Given the description of an element on the screen output the (x, y) to click on. 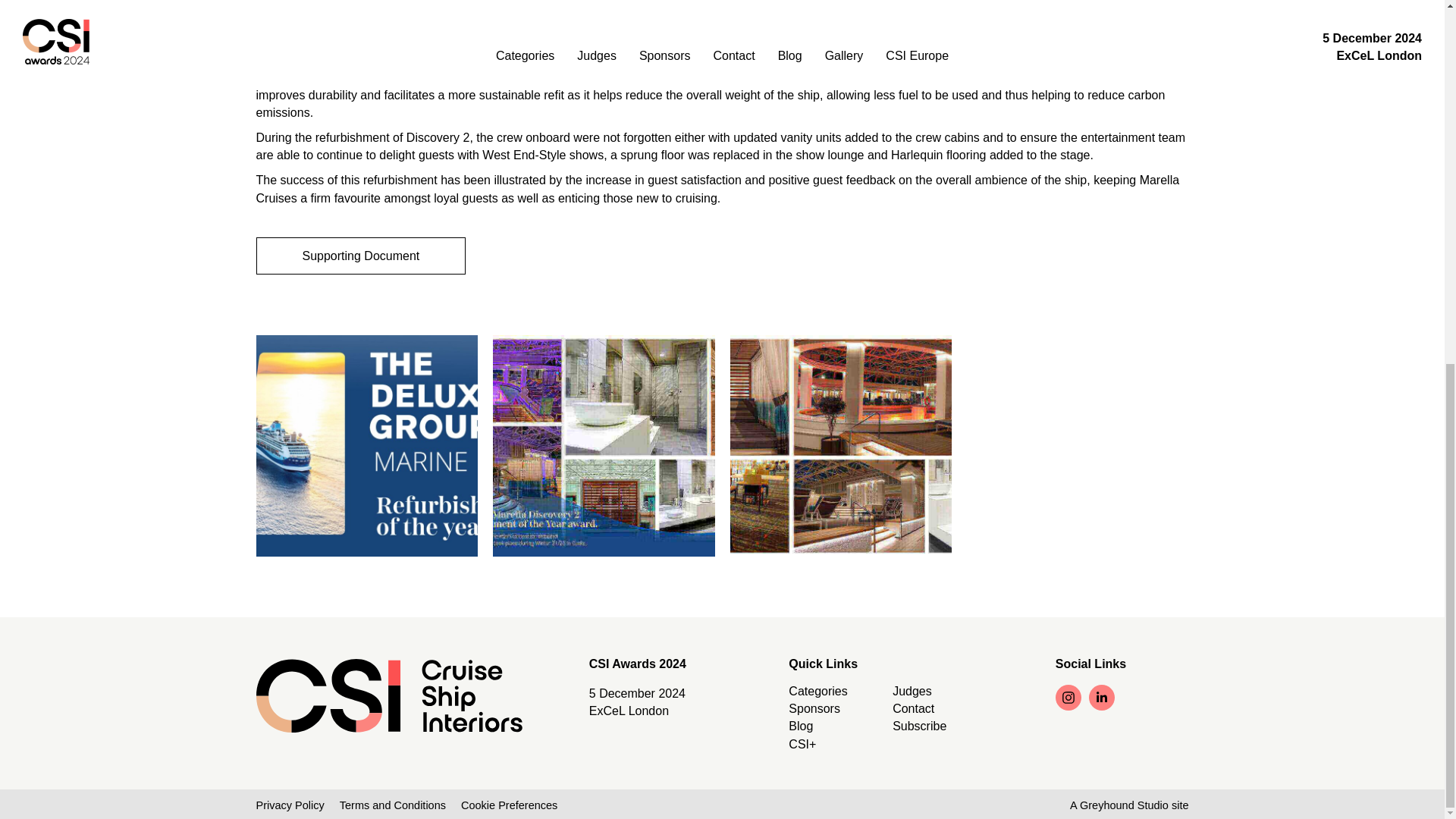
Terms and Conditions (392, 805)
Judges (911, 690)
Sponsors (814, 707)
Cookie Preferences (509, 805)
Subscribe (919, 725)
Contact (913, 707)
Supporting Document (360, 255)
Categories (818, 690)
Privacy Policy (290, 805)
A Greyhound Studio site (1129, 805)
